Given the description of an element on the screen output the (x, y) to click on. 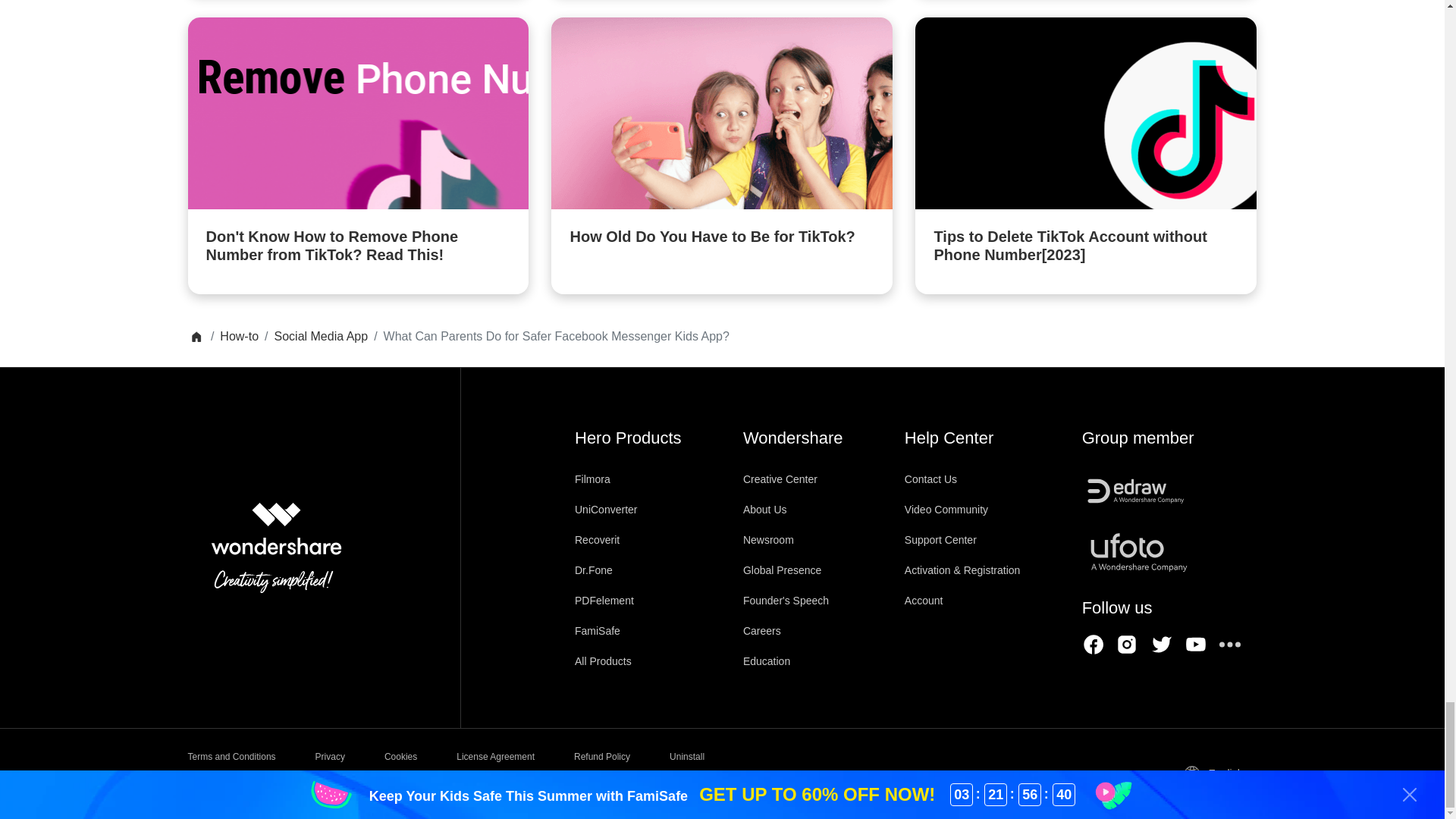
How Old Do You Have to Be for TikTok? (721, 146)
